Given the description of an element on the screen output the (x, y) to click on. 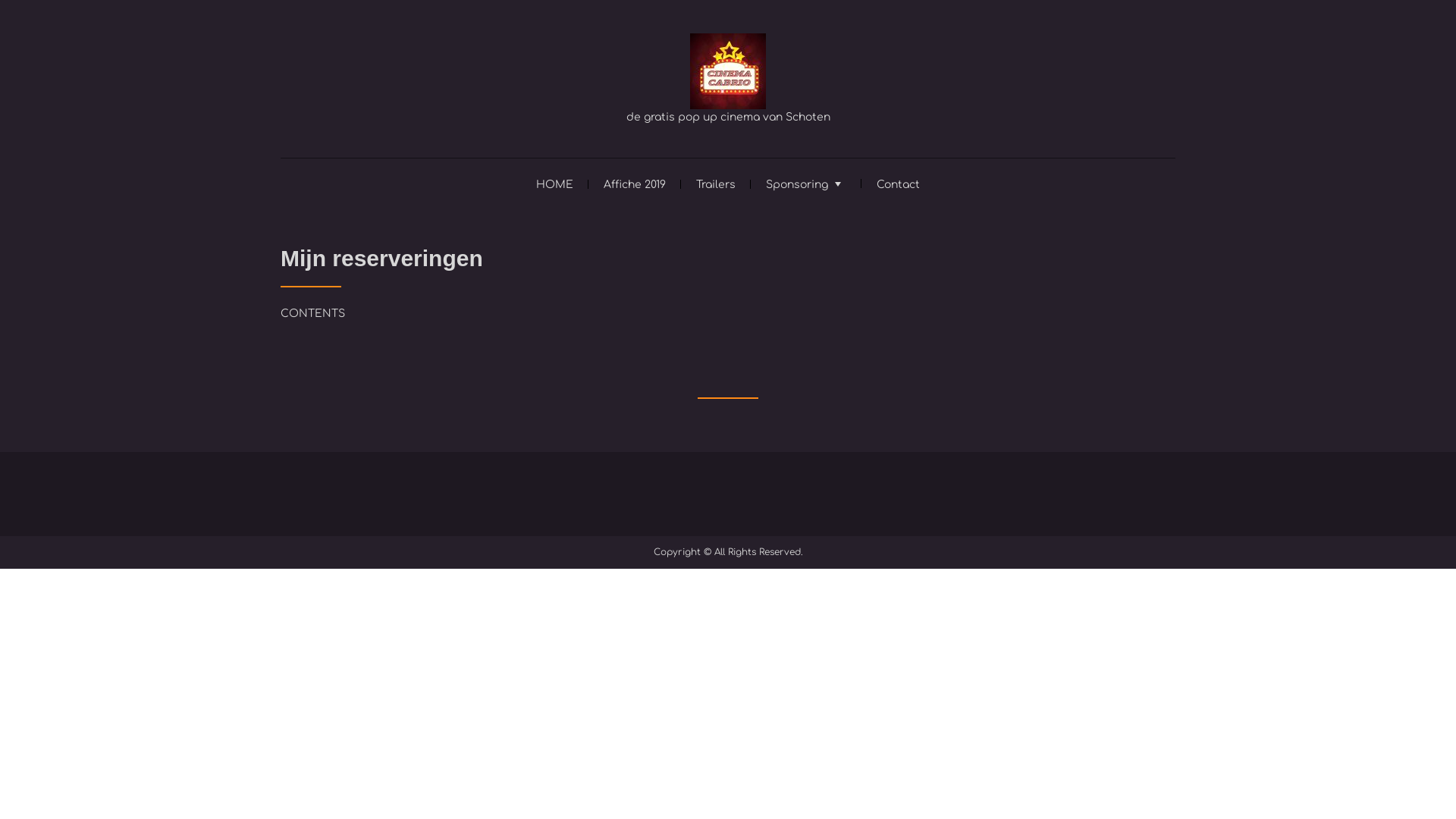
Trailers Element type: text (715, 183)
HOME Element type: text (554, 183)
Sponsoring Element type: text (805, 182)
Affiche 2019 Element type: text (634, 183)
Contact Element type: text (898, 183)
